Given the description of an element on the screen output the (x, y) to click on. 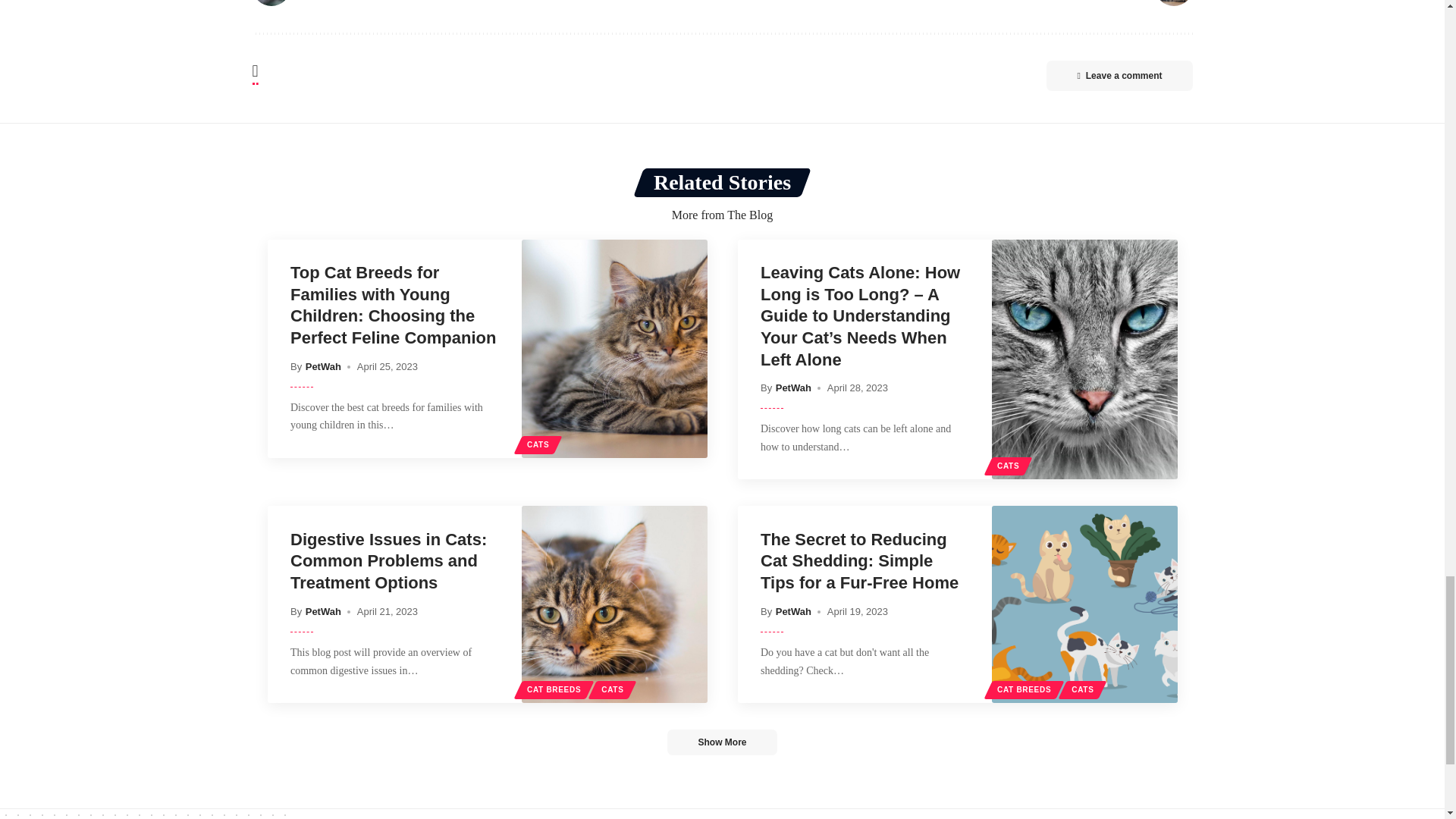
Is it Safe to Feed Your Cat Human Food or Table Scraps? 3 (270, 2)
Is Your Cat Unwell? 5 Signs You Shouldn't Ignore 4 (1173, 2)
